Given the description of an element on the screen output the (x, y) to click on. 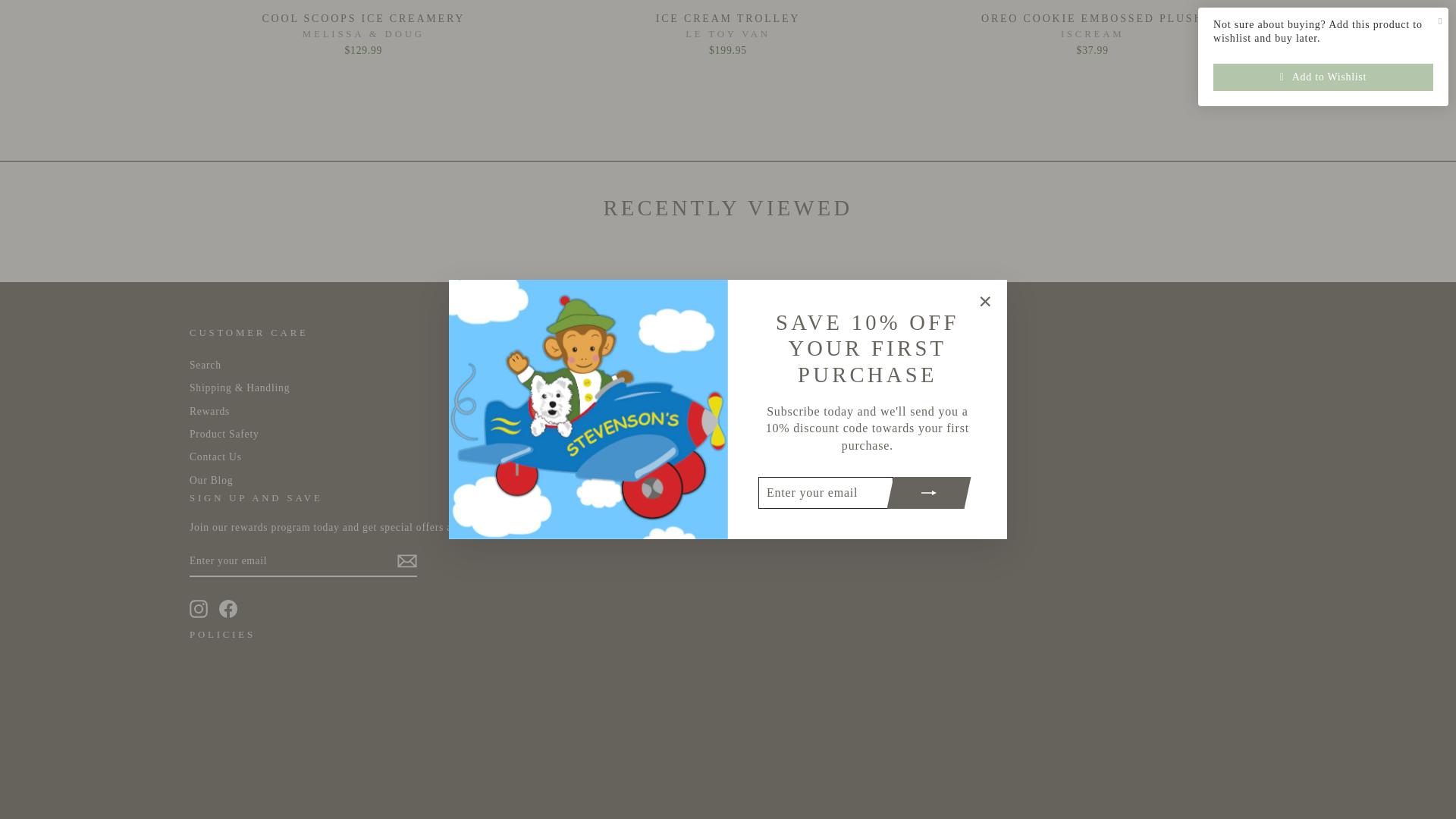
icon-email (406, 561)
instagram (198, 608)
